Given the description of an element on the screen output the (x, y) to click on. 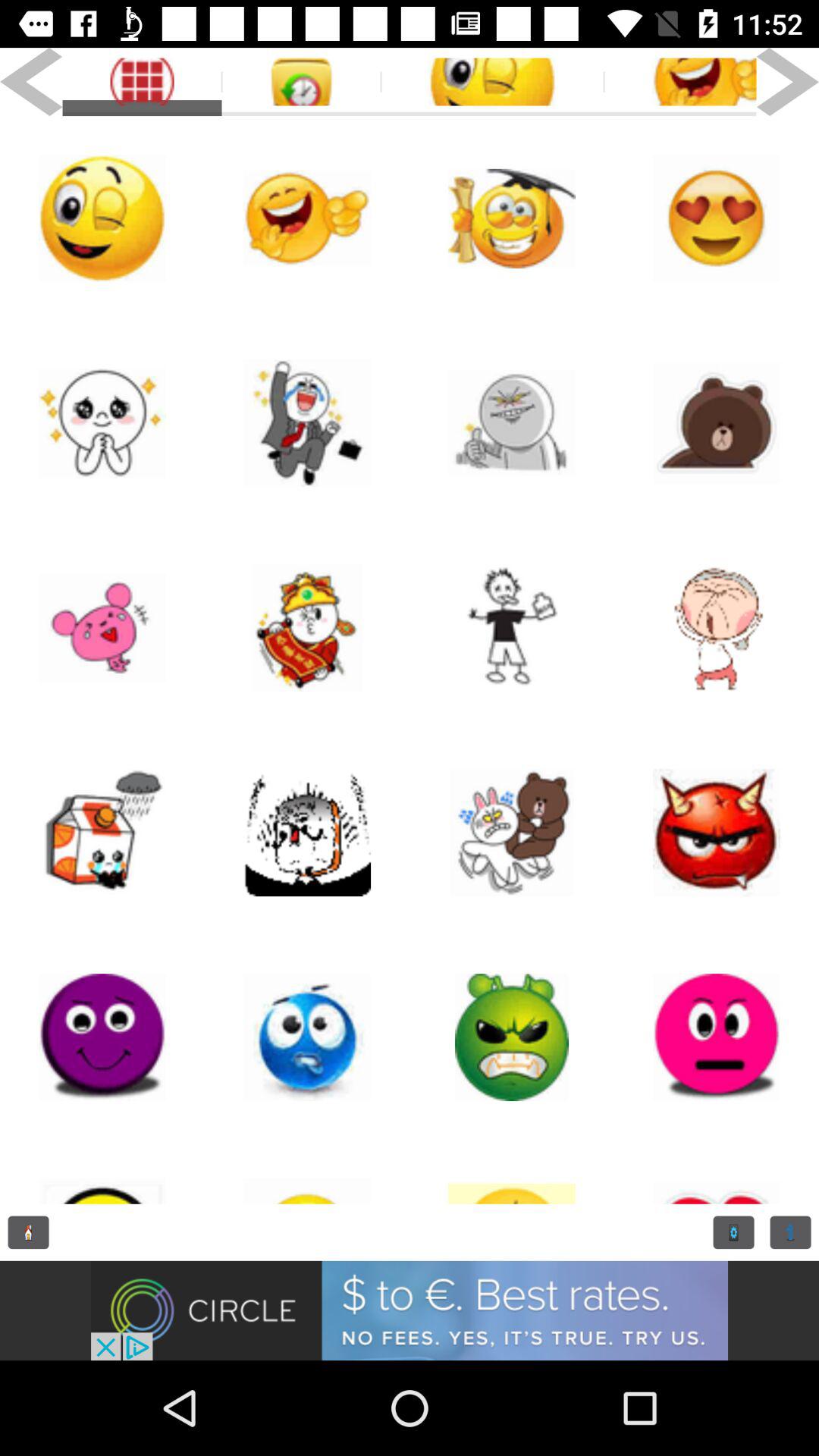
select emoji (511, 1037)
